Given the description of an element on the screen output the (x, y) to click on. 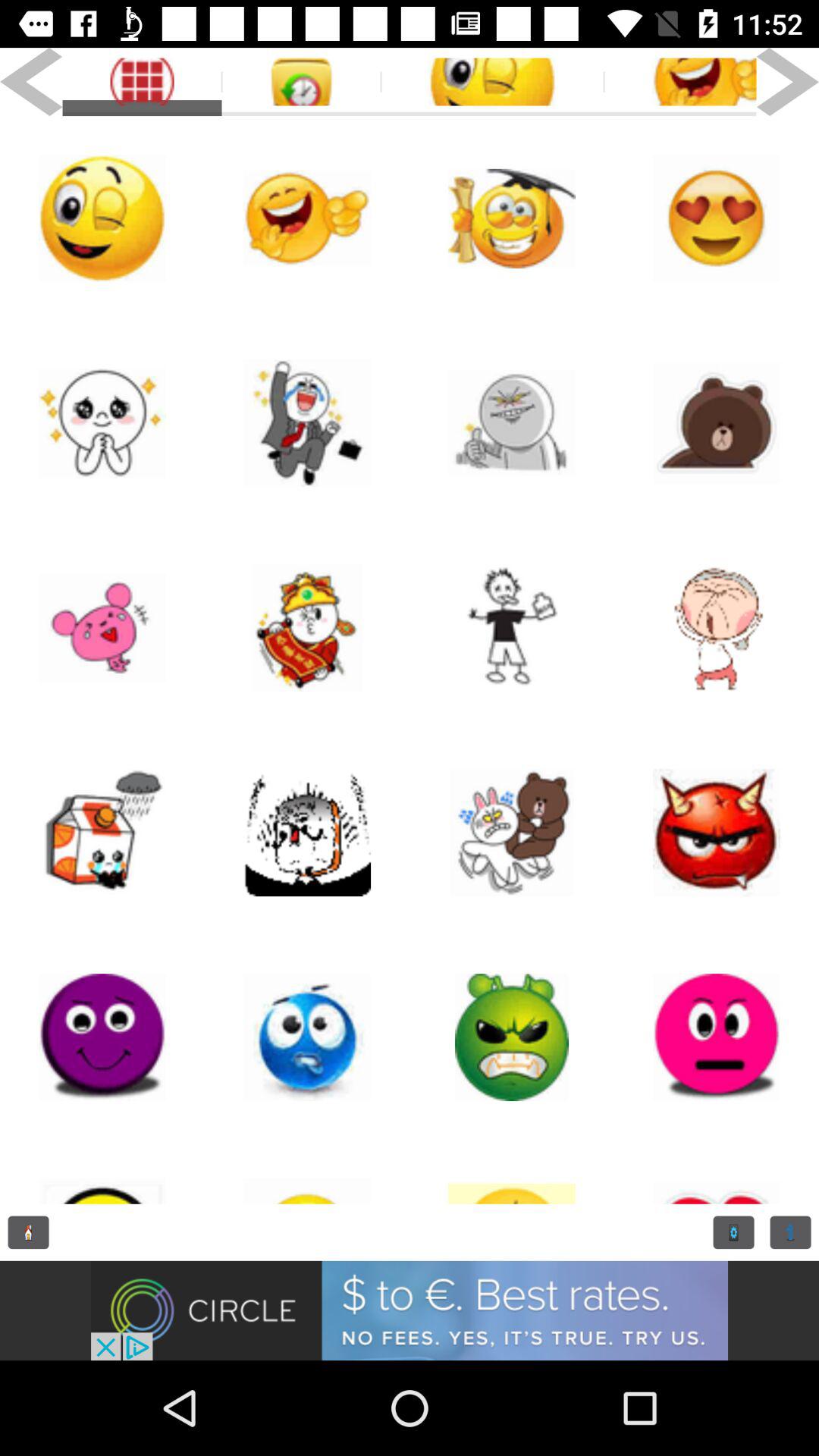
select emoji (511, 1037)
